Given the description of an element on the screen output the (x, y) to click on. 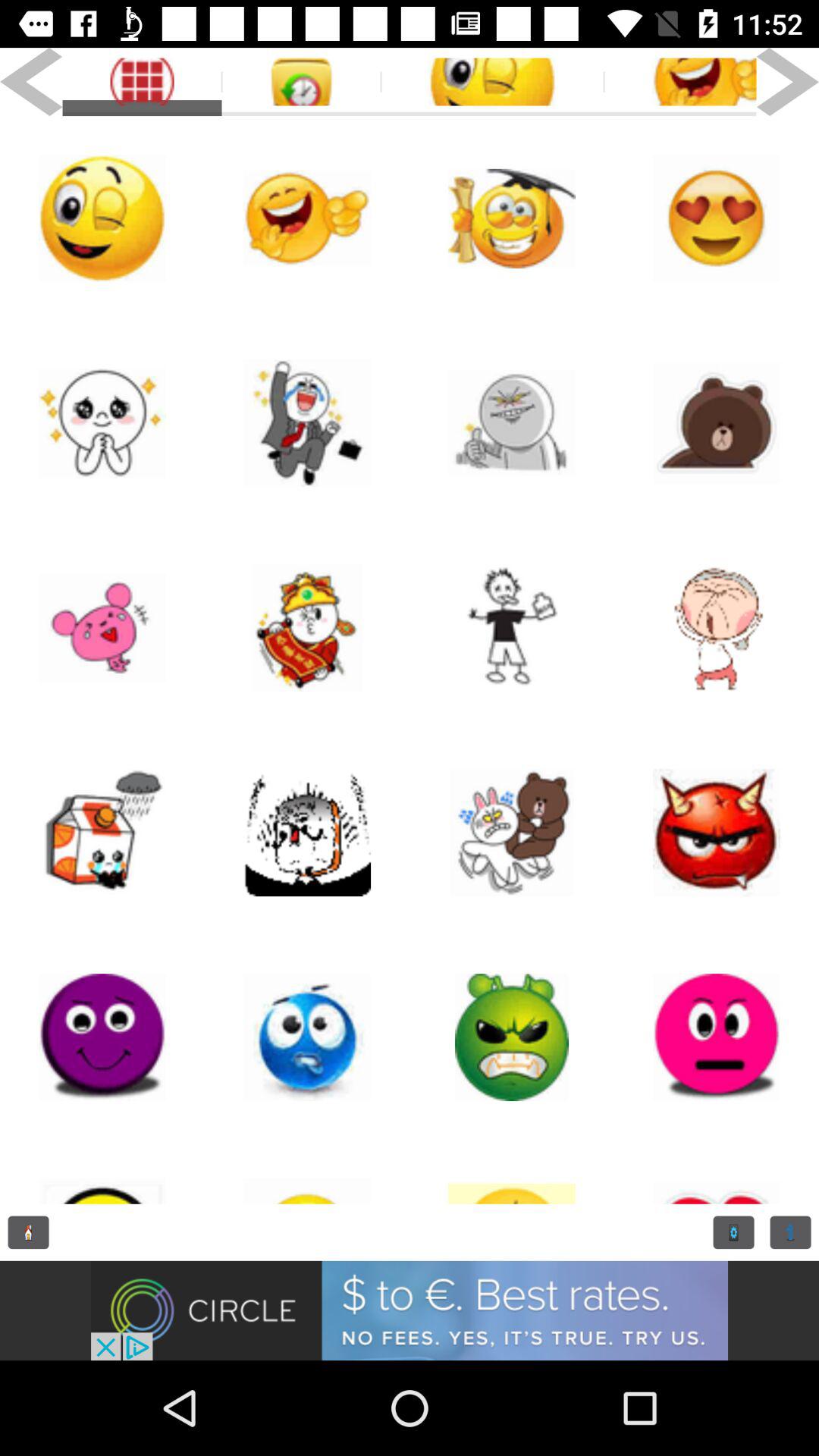
select emoji (511, 1037)
